Given the description of an element on the screen output the (x, y) to click on. 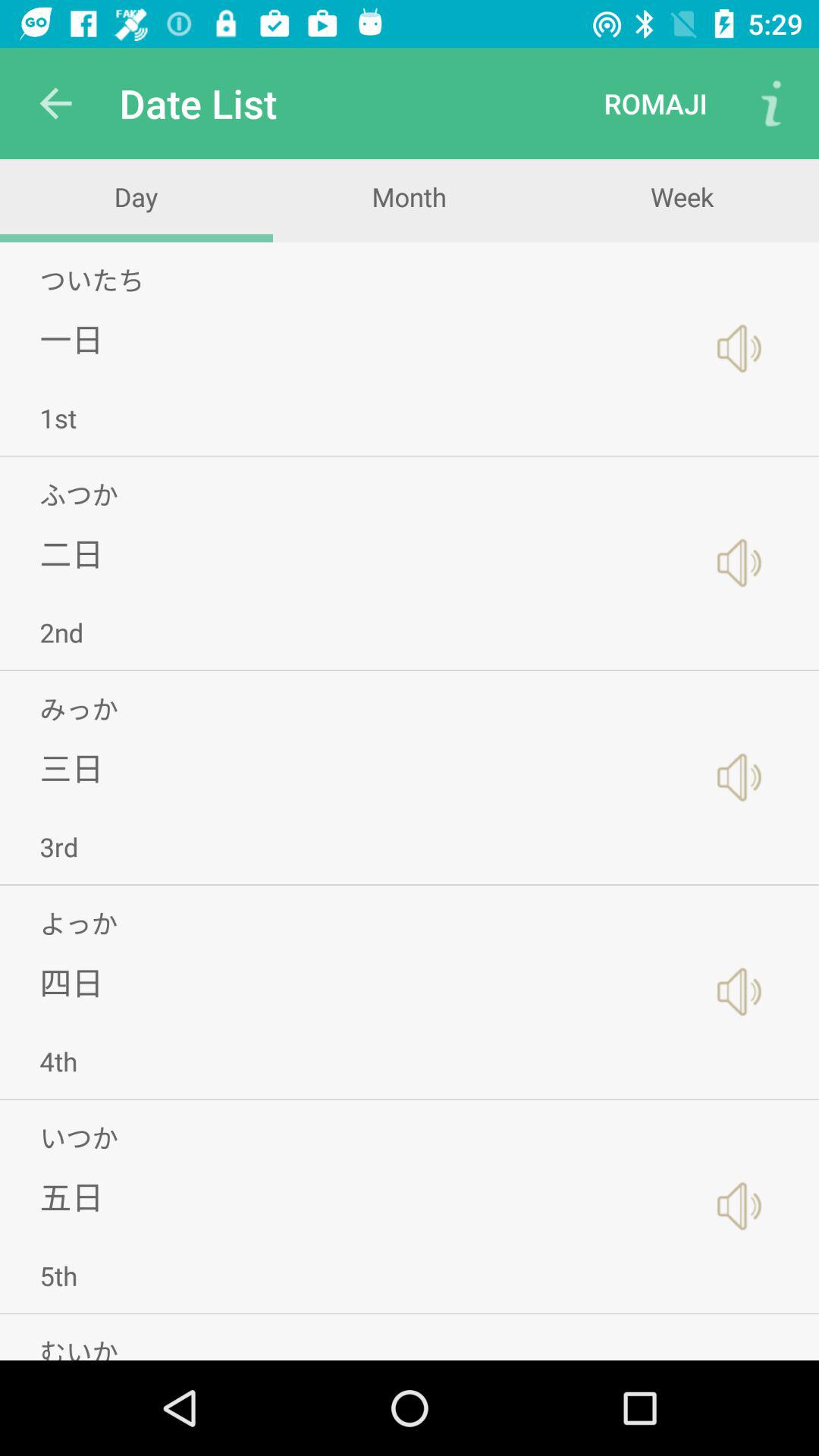
press the icon above the day app (55, 103)
